Given the description of an element on the screen output the (x, y) to click on. 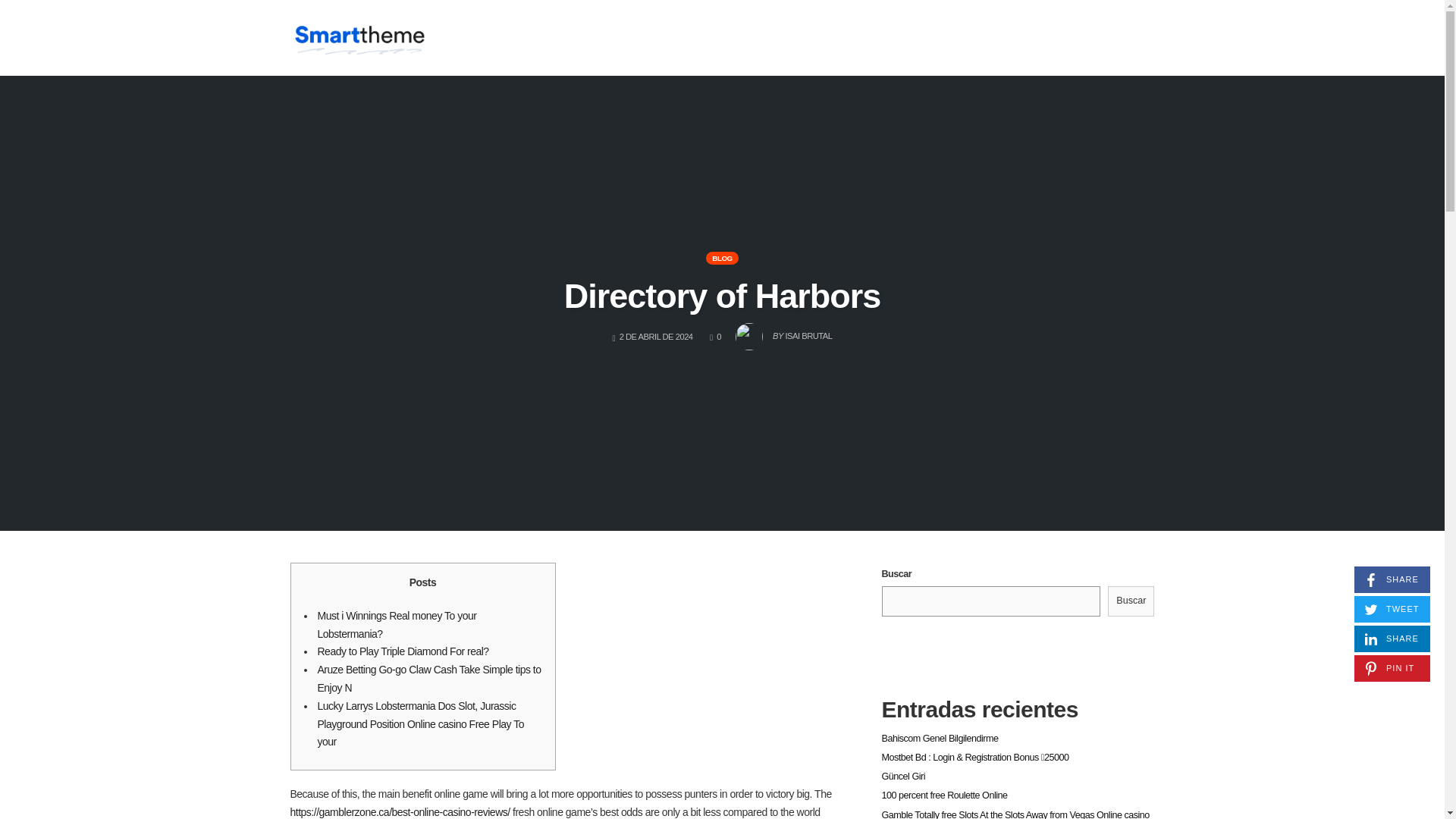
Rich Hackers (358, 37)
Bahiscom Genel Bilgilendirme (1391, 638)
BY ISAI BRUTAL (1391, 579)
Must i Winnings Real money To your Lobstermania? (938, 738)
BLOG (783, 331)
100 percent free Roulette Online (396, 624)
